Given the description of an element on the screen output the (x, y) to click on. 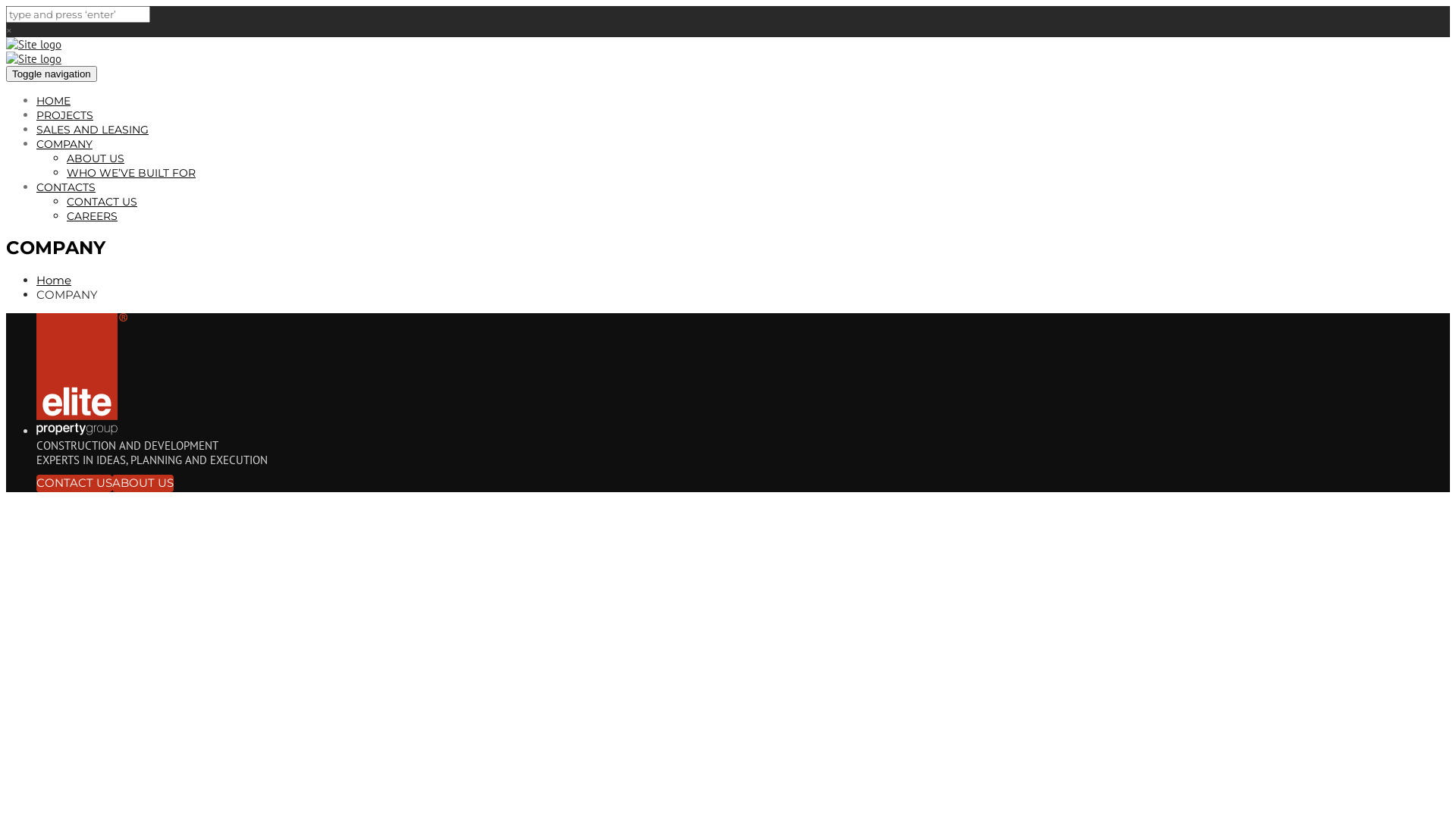
HOME Element type: text (53, 100)
Toggle navigation Element type: text (51, 73)
ABOUT US Element type: text (95, 158)
PROJECTS Element type: text (64, 115)
CONTACTS Element type: text (65, 187)
COMPANY Element type: text (64, 143)
Home Element type: text (53, 280)
CONTACT US Element type: text (74, 483)
CONTACT US Element type: text (101, 201)
CAREERS Element type: text (91, 215)
ABOUT US Element type: text (142, 483)
SALES AND LEASING Element type: text (92, 129)
